Given the description of an element on the screen output the (x, y) to click on. 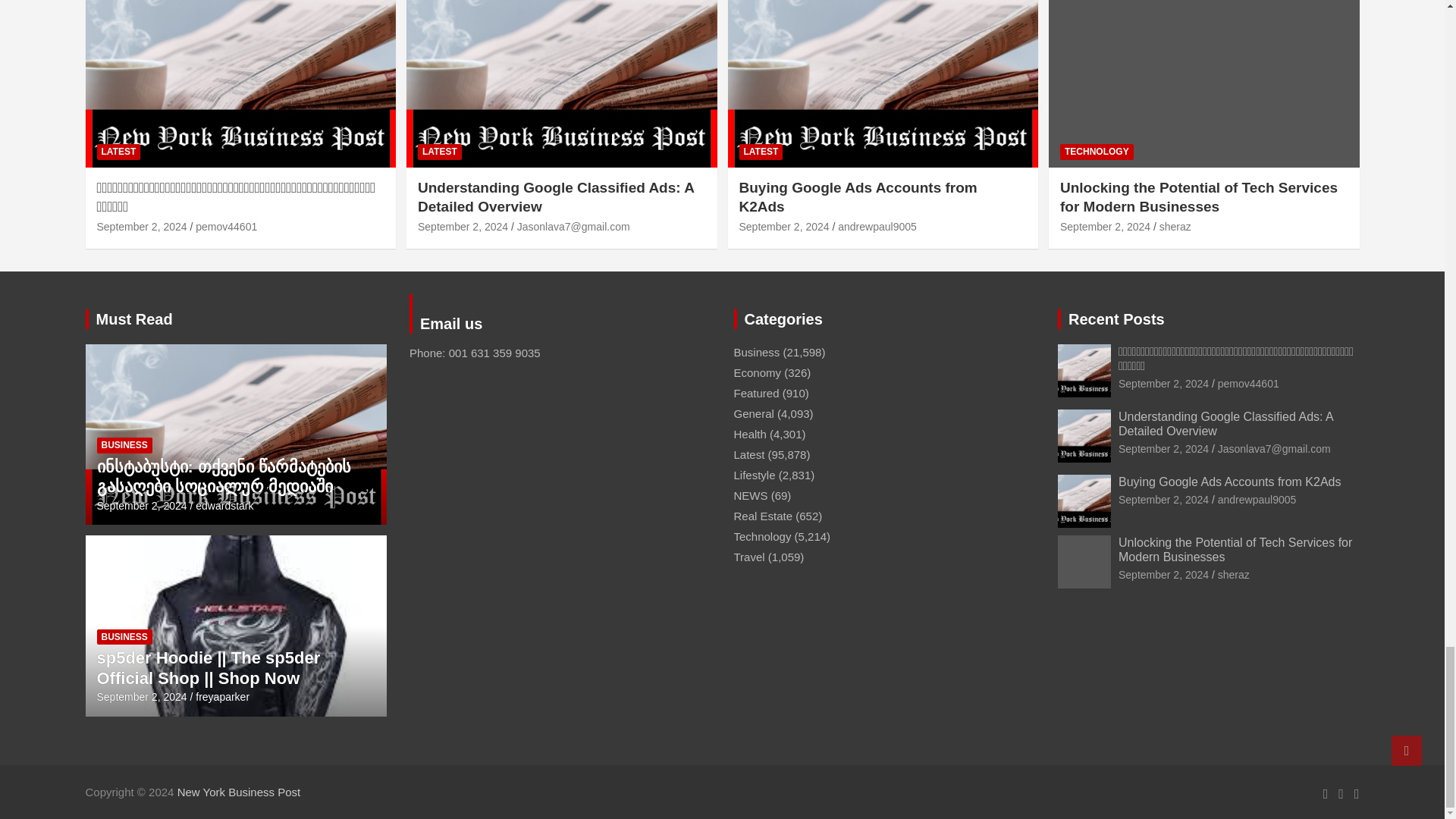
Understanding Google Classified Ads: A Detailed Overview (462, 226)
Buying Google Ads Accounts from K2Ads (783, 226)
Understanding Google Classified Ads: A Detailed Overview (1163, 449)
